Given the description of an element on the screen output the (x, y) to click on. 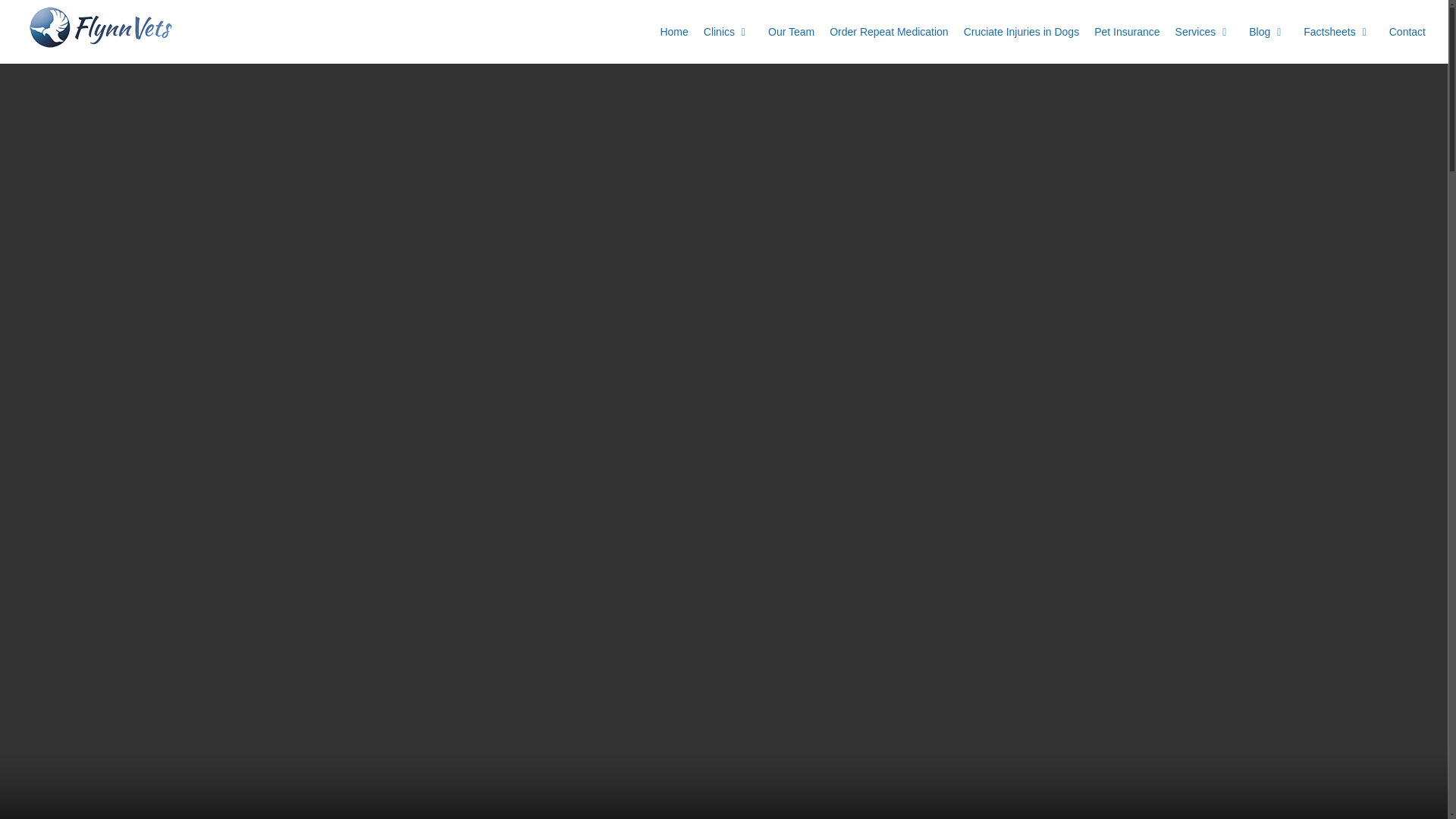
Cruciate Injuries in Dogs (1021, 31)
Pet Insurance (1126, 31)
Order Repeat Medication (888, 31)
Factsheets (1338, 31)
Services (1204, 31)
